Given the description of an element on the screen output the (x, y) to click on. 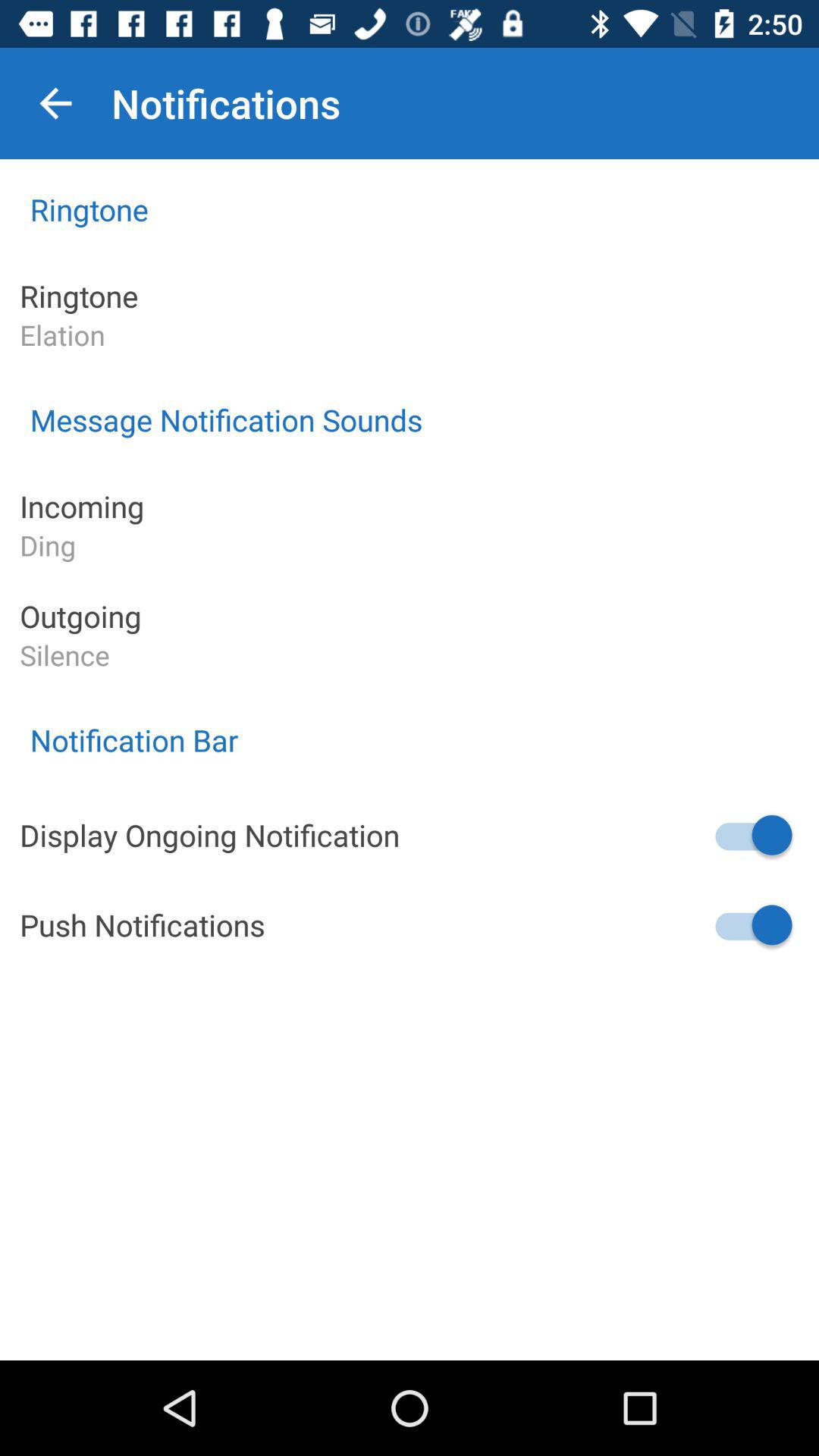
on or off display ongoing notifications (751, 835)
